Given the description of an element on the screen output the (x, y) to click on. 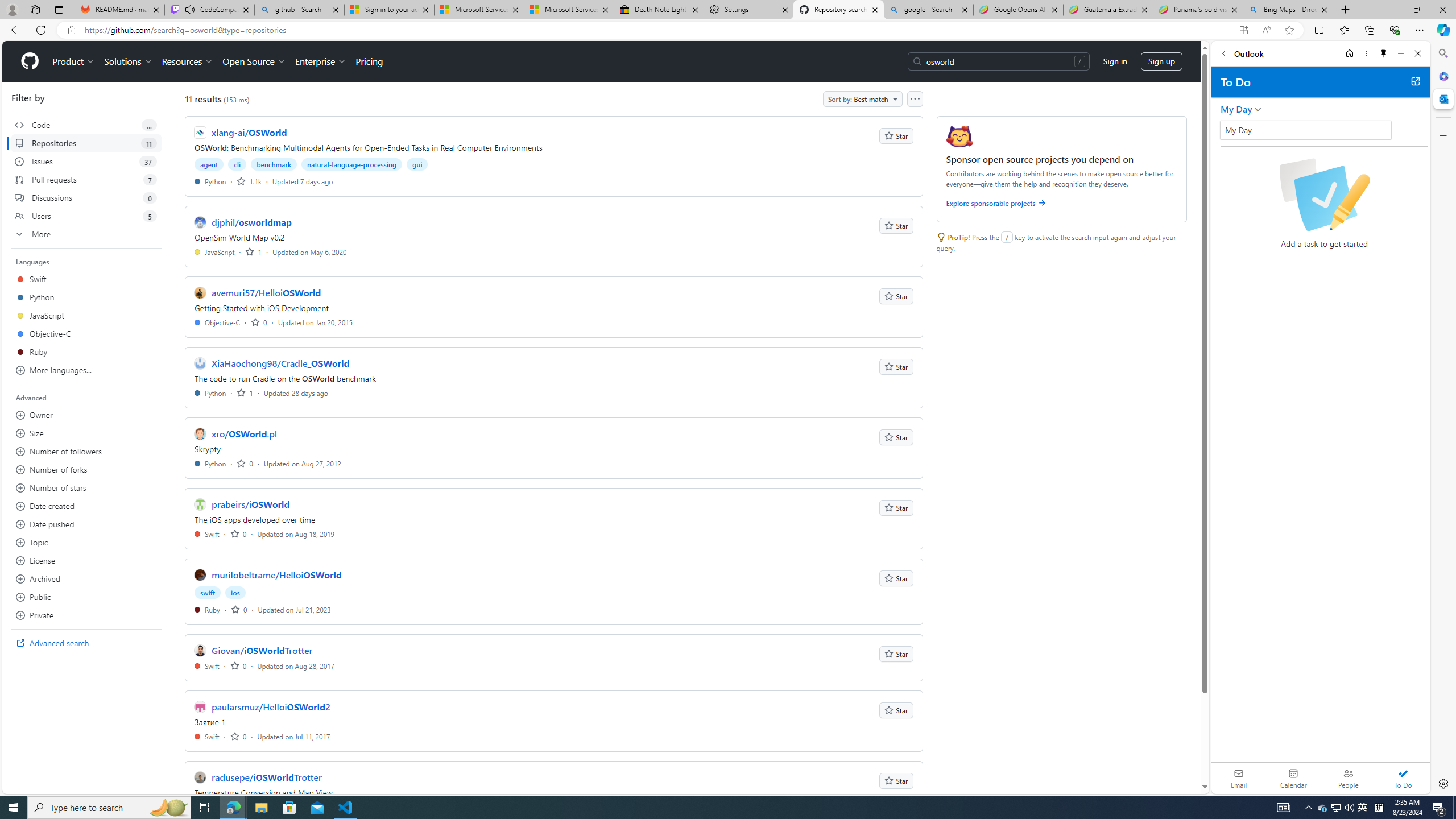
Advanced search (86, 642)
